Given the description of an element on the screen output the (x, y) to click on. 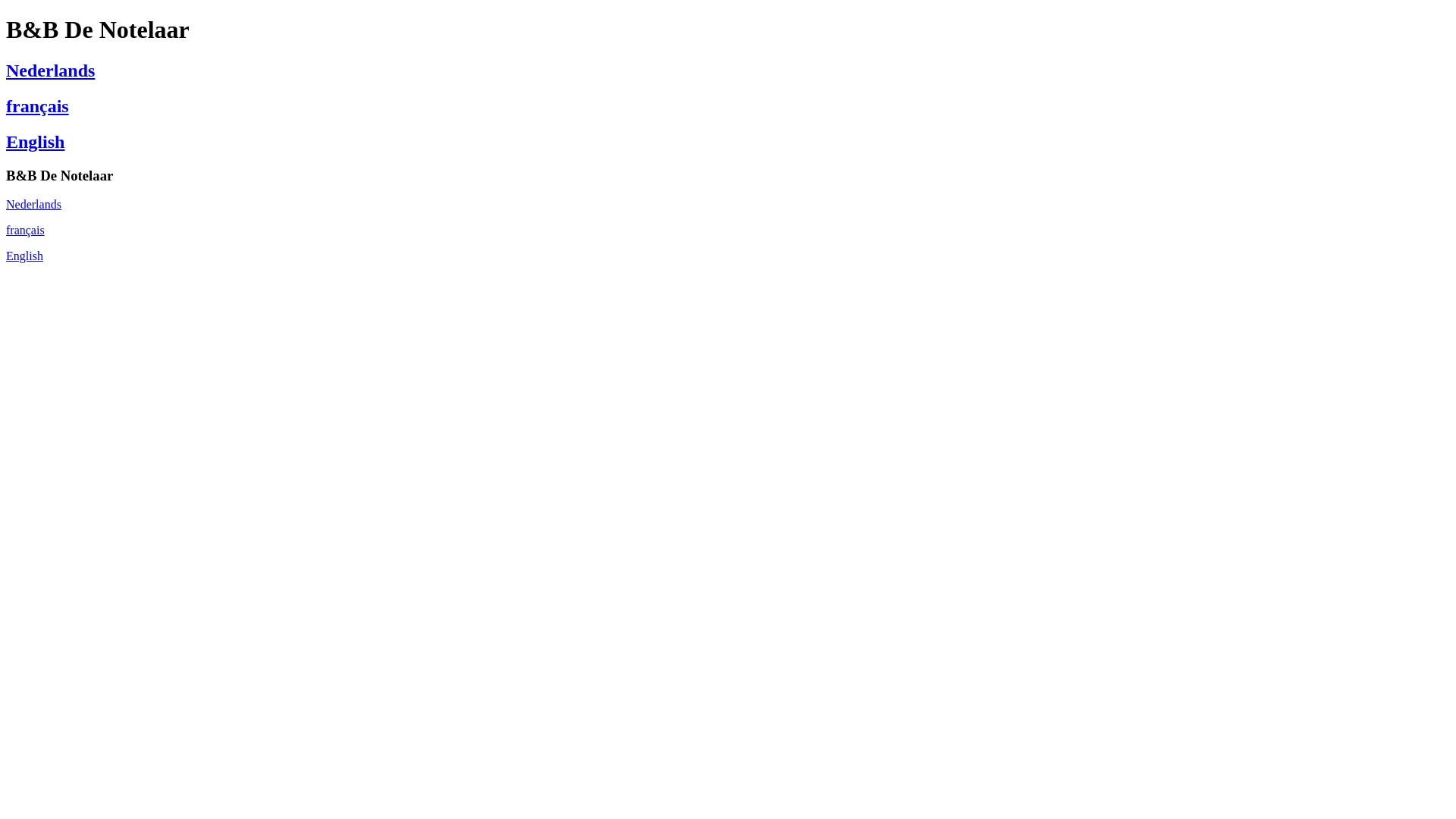
English Element type: text (24, 255)
Nederlands Element type: text (50, 70)
English Element type: text (35, 141)
Nederlands Element type: text (33, 203)
